Given the description of an element on the screen output the (x, y) to click on. 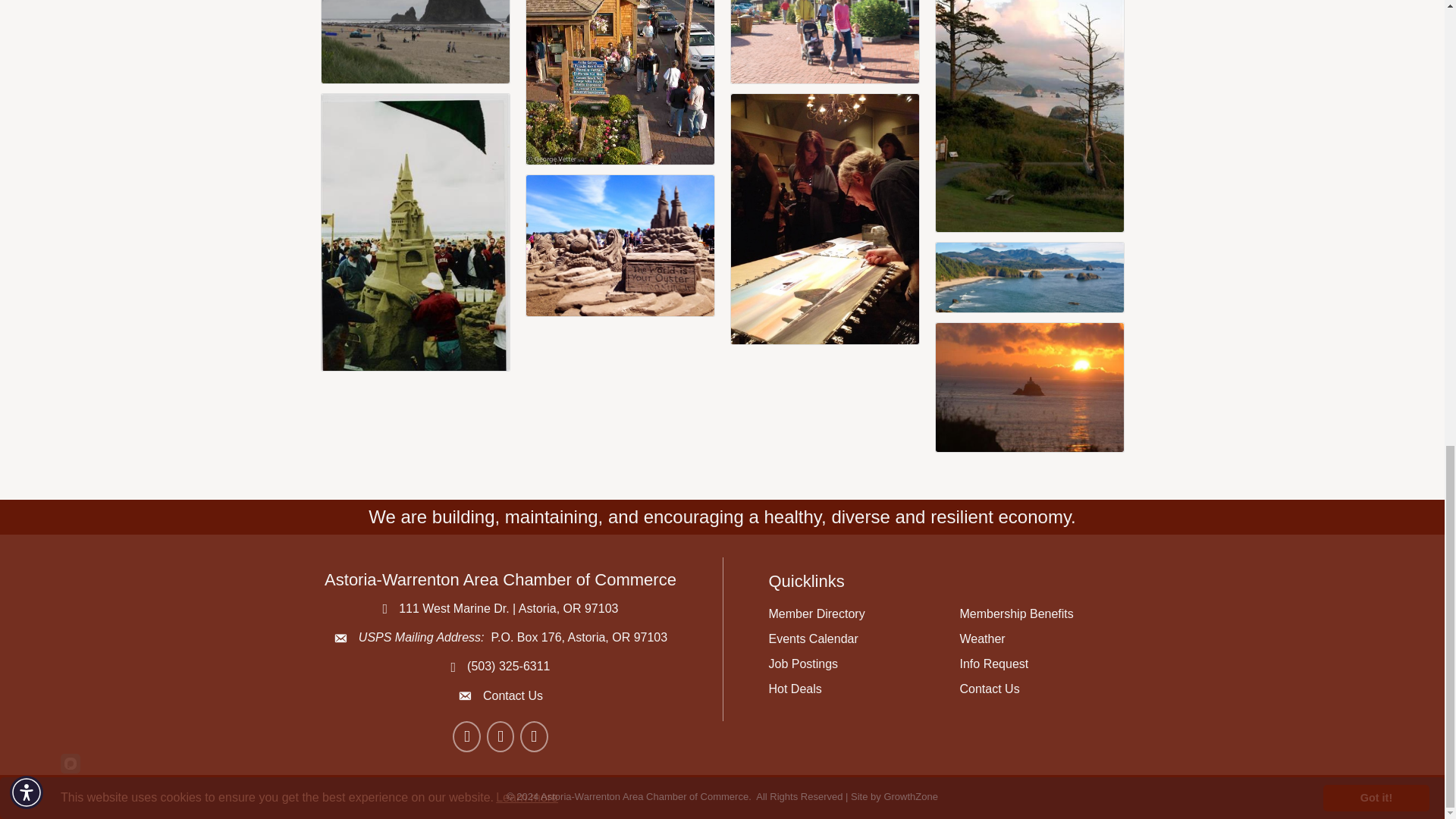
Gallery Image downtown.jpg (619, 82)
Gallery Image downtown.jpg2.jpg (824, 41)
Haystack Rock (415, 41)
Gallery Image cb5.jpg (619, 245)
